Given the description of an element on the screen output the (x, y) to click on. 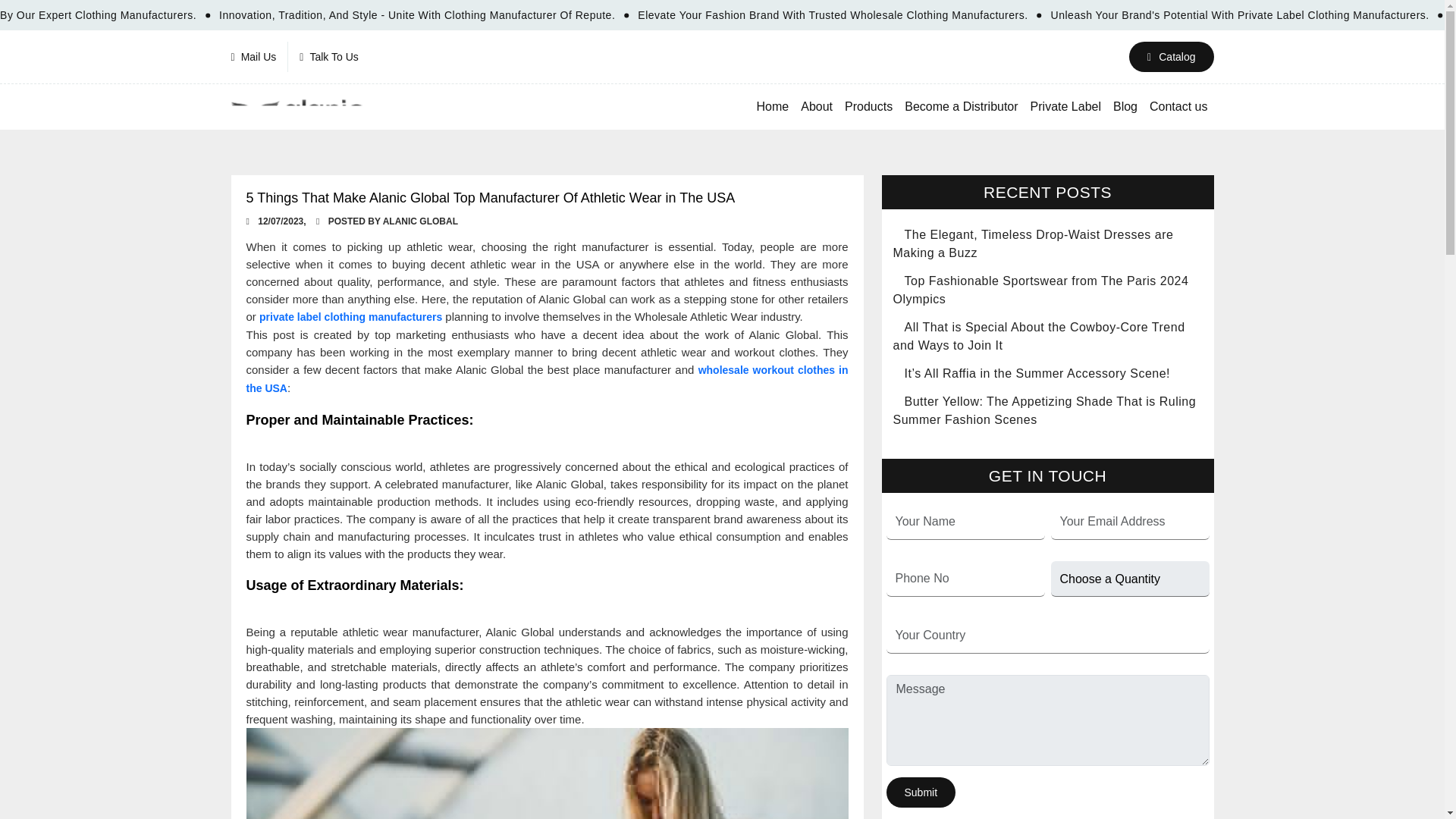
Products (868, 106)
submit (920, 792)
Home (772, 106)
Home (772, 106)
About (816, 106)
Mail Us (259, 56)
Products (868, 106)
